Given the description of an element on the screen output the (x, y) to click on. 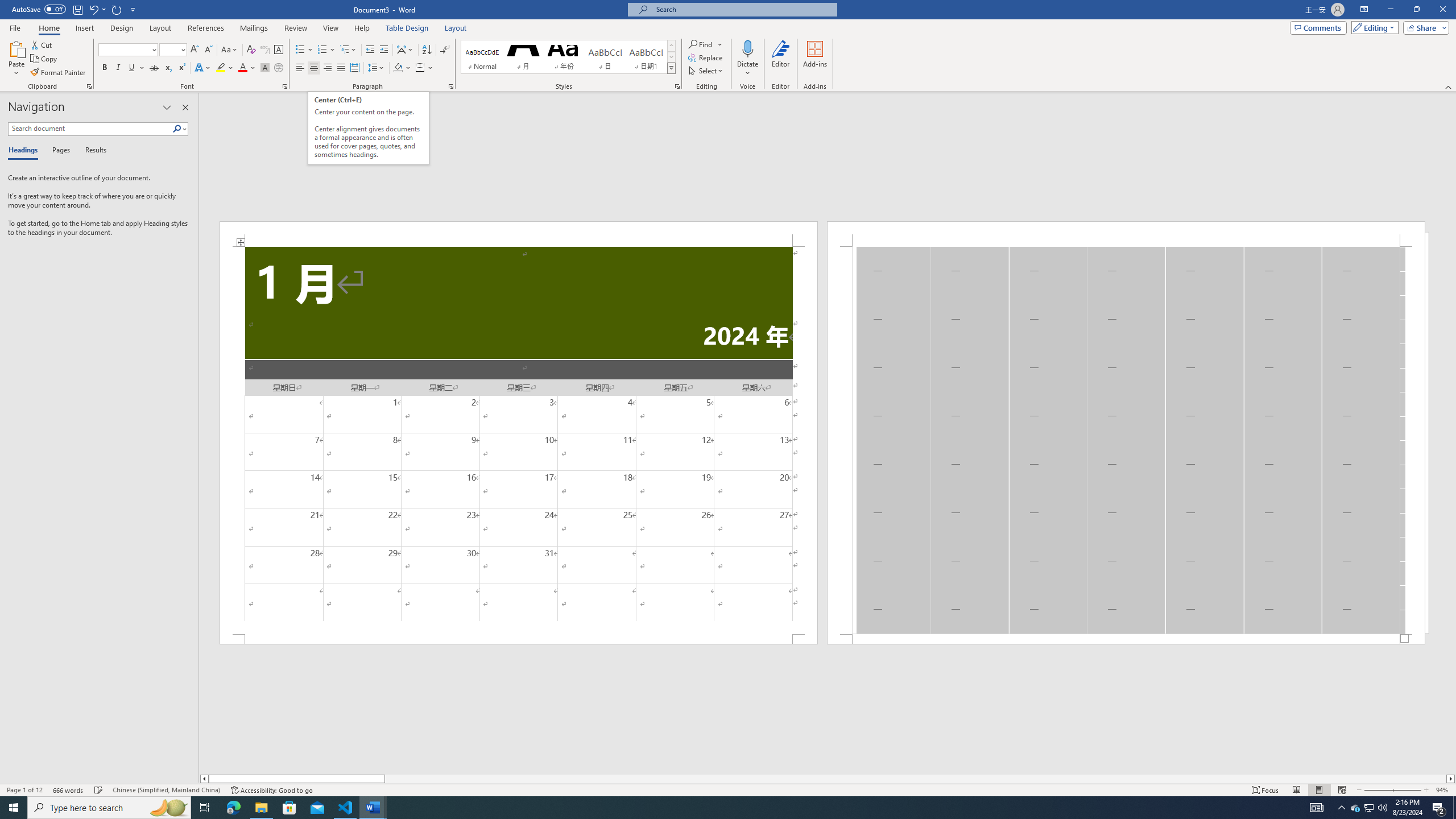
Styles... (676, 85)
Show/Hide Editing Marks (444, 49)
Column right (1450, 778)
Select (705, 69)
Format Painter (58, 72)
Text Highlight Color Yellow (220, 67)
Font Color RGB(255, 0, 0) (241, 67)
Page 1 content (518, 439)
Strikethrough (154, 67)
Italic (118, 67)
